Given the description of an element on the screen output the (x, y) to click on. 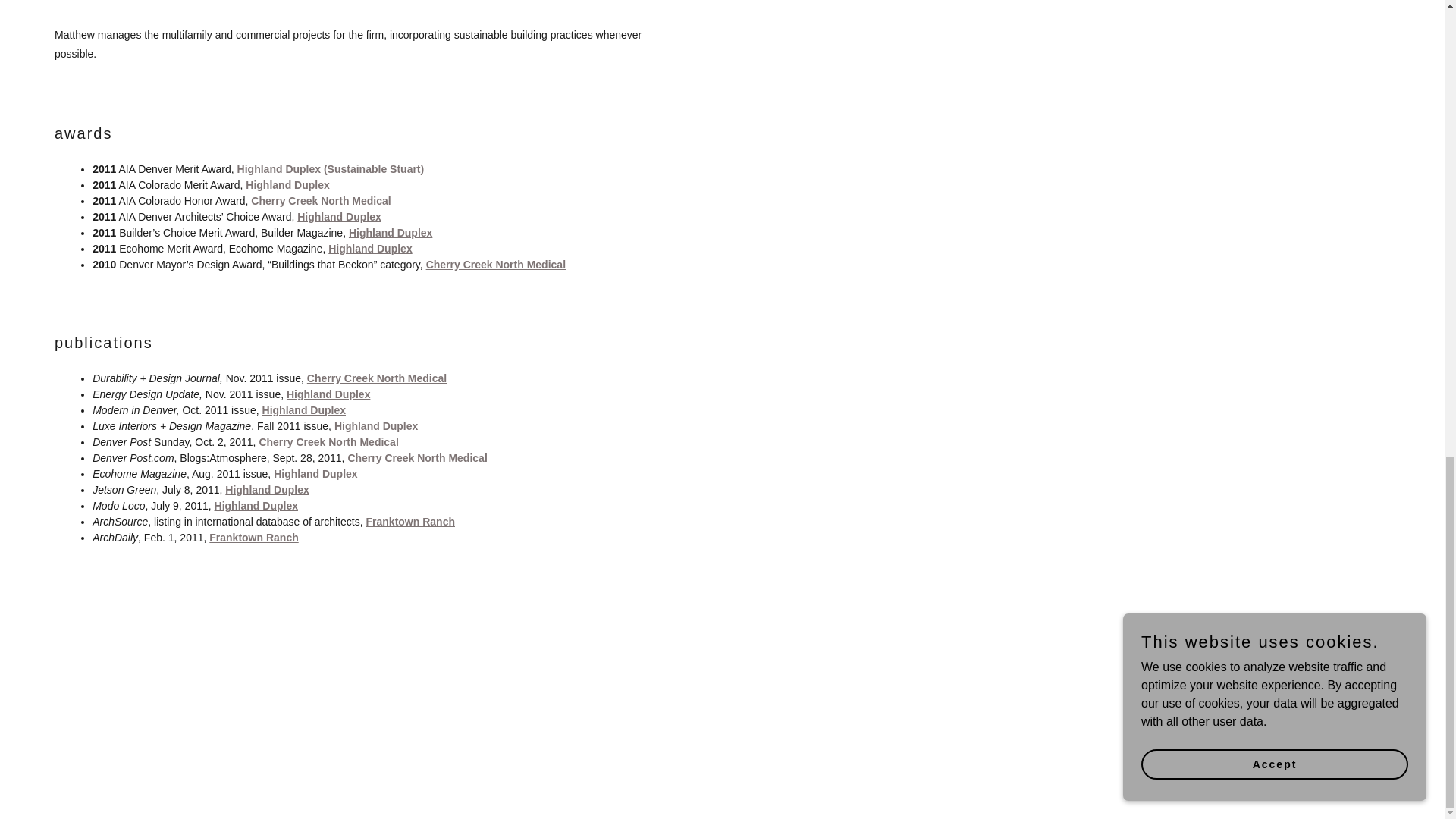
Franktown Ranch (253, 537)
Cherry Creek North Medical (376, 378)
Cherry Creek North Medical (320, 200)
Franktown Ranch (410, 521)
Cherry Creek North Medical (328, 441)
Highland Duplex (370, 248)
Cherry Creek North Medical (496, 264)
Highland Duplex (338, 216)
Highland Duplex (327, 394)
Highland Duplex (304, 410)
